Given the description of an element on the screen output the (x, y) to click on. 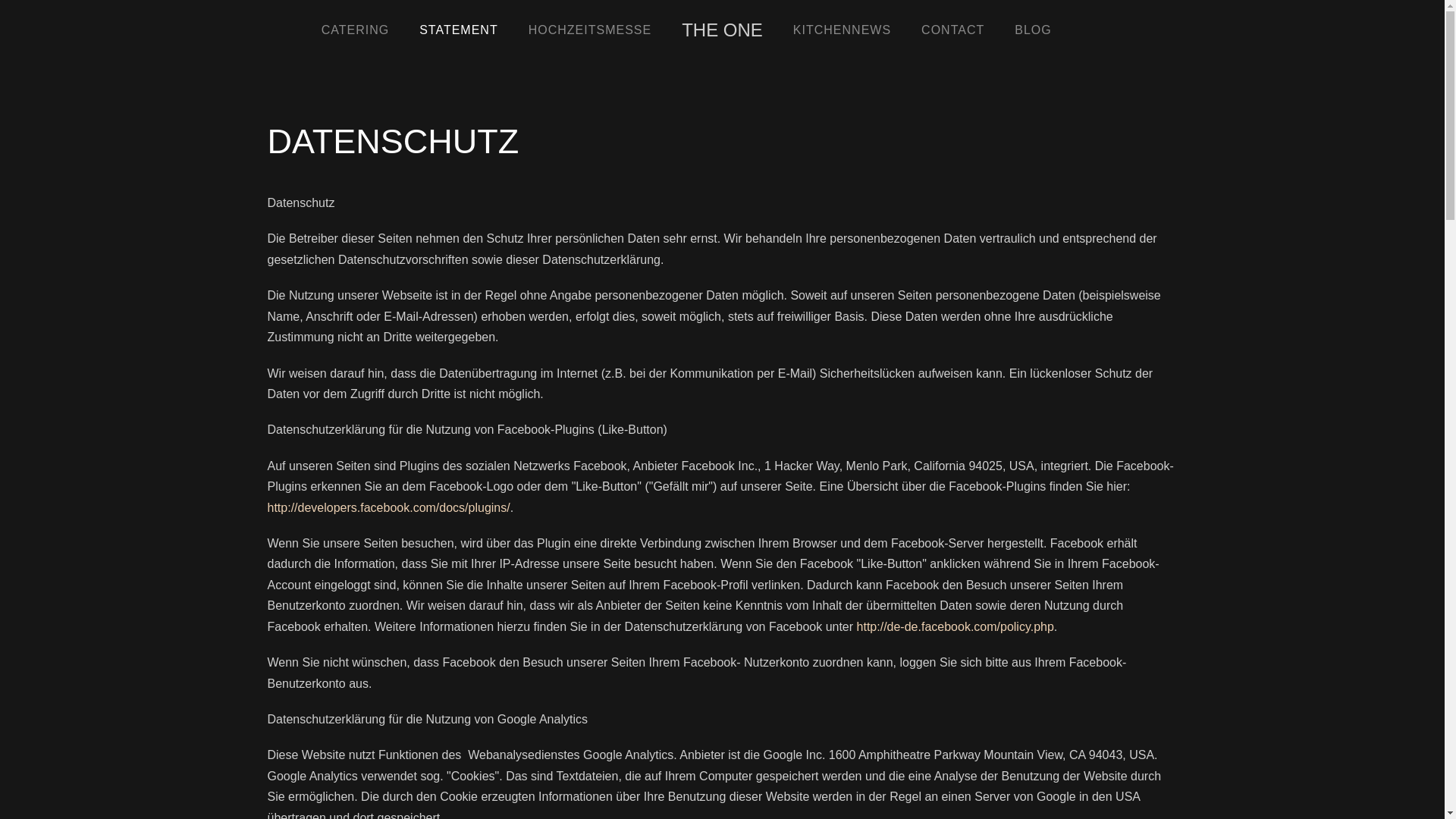
http://developers.facebook.com/docs/plugins/ Element type: text (387, 507)
HOCHZEITSMESSE Element type: text (589, 30)
KITCHENNEWS Element type: text (842, 30)
CATERING Element type: text (355, 30)
THE ONE Element type: text (722, 30)
http://de-de.facebook.com/policy.php Element type: text (955, 626)
BLOG Element type: text (1032, 30)
CONTACT Element type: text (952, 30)
STATEMENT Element type: text (458, 30)
